Given the description of an element on the screen output the (x, y) to click on. 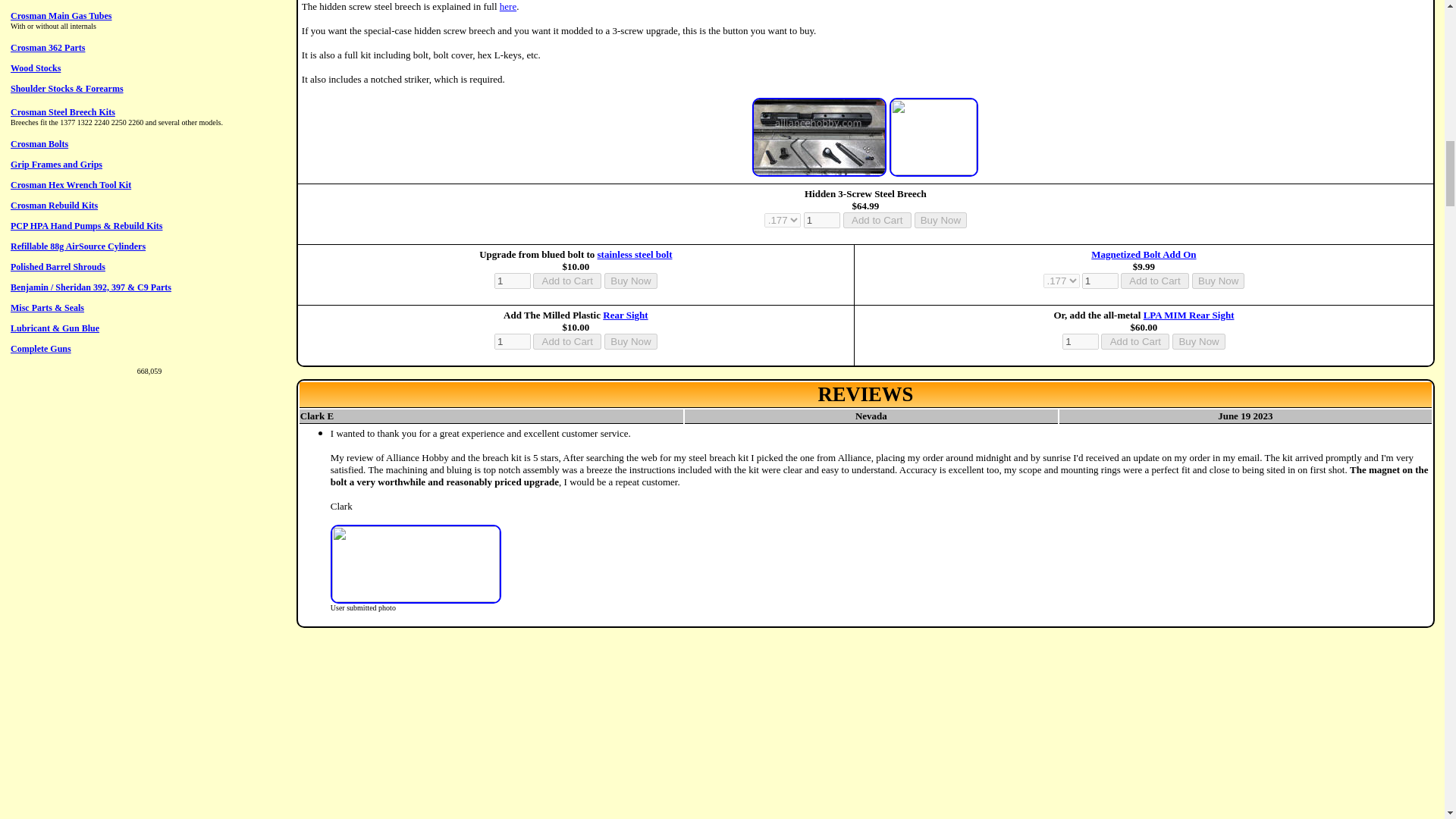
Adds to cart, stays on page. (877, 220)
Adds to cart, goes to cart. (940, 220)
Adds to cart, goes to cart. (630, 280)
Adds to cart, stays on page. (566, 280)
